Given the description of an element on the screen output the (x, y) to click on. 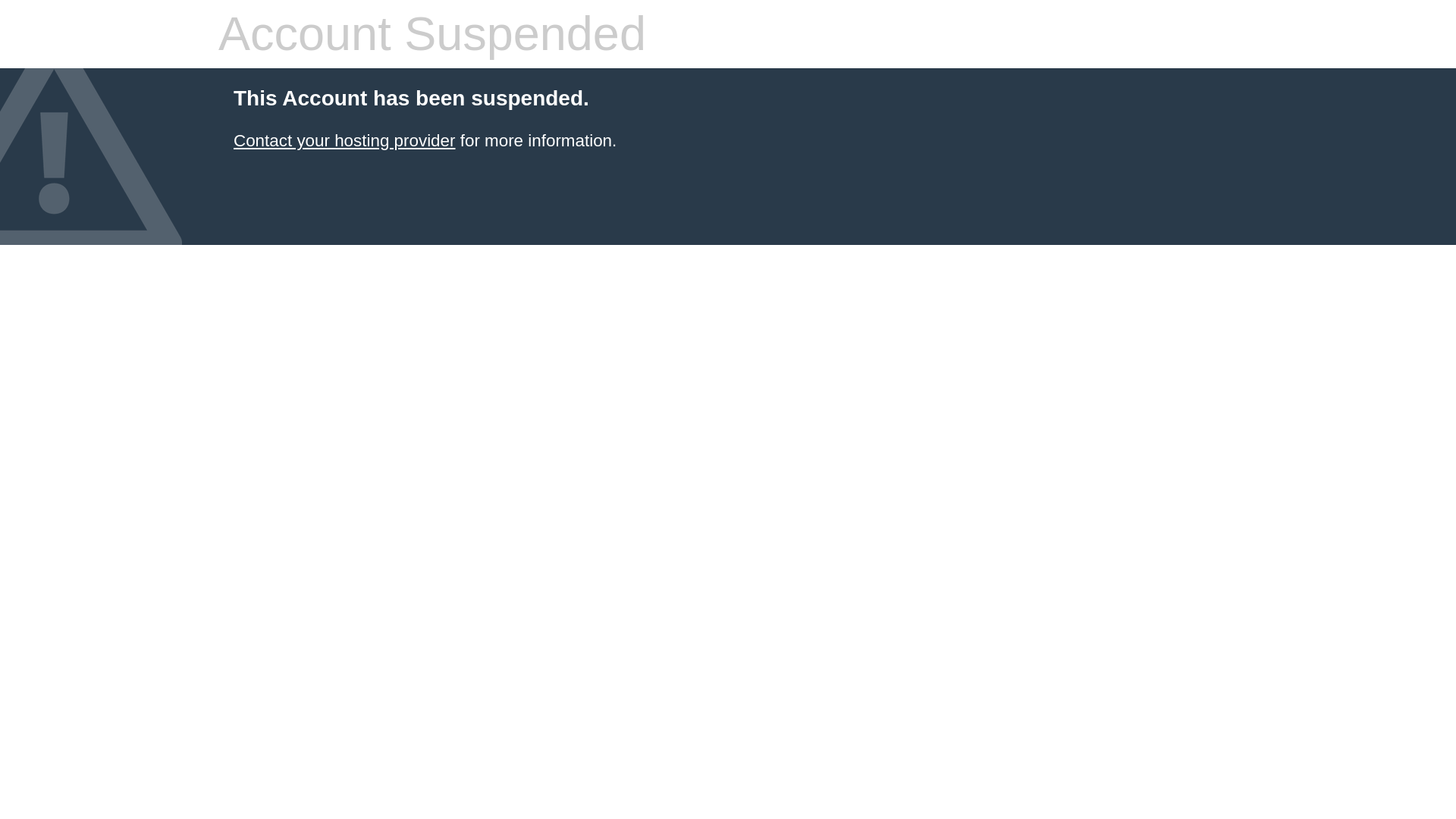
Contact your hosting provider (343, 140)
